Given the description of an element on the screen output the (x, y) to click on. 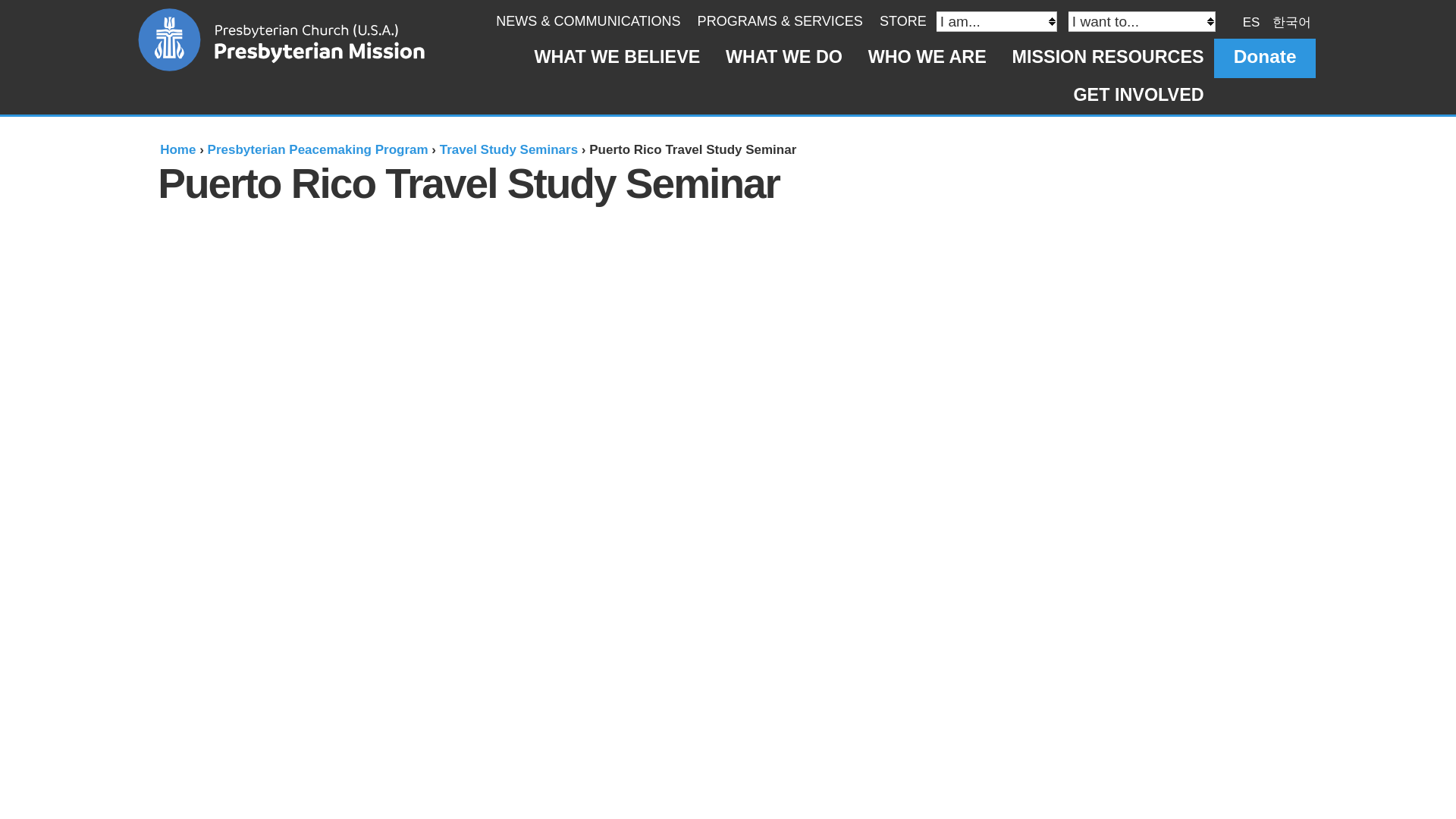
ES (1252, 22)
STORE (902, 20)
